Given the description of an element on the screen output the (x, y) to click on. 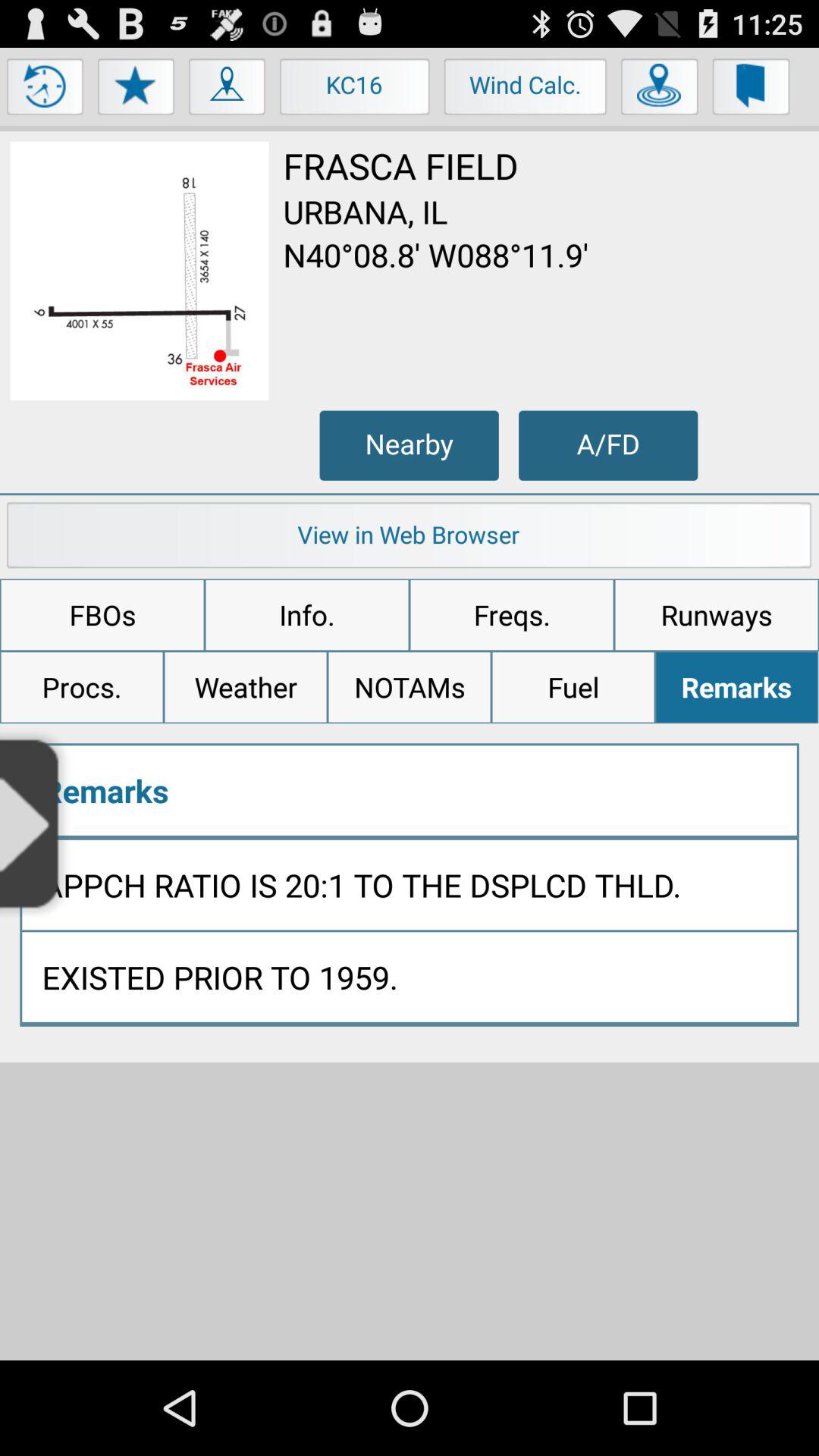
menu button (45, 90)
